Given the description of an element on the screen output the (x, y) to click on. 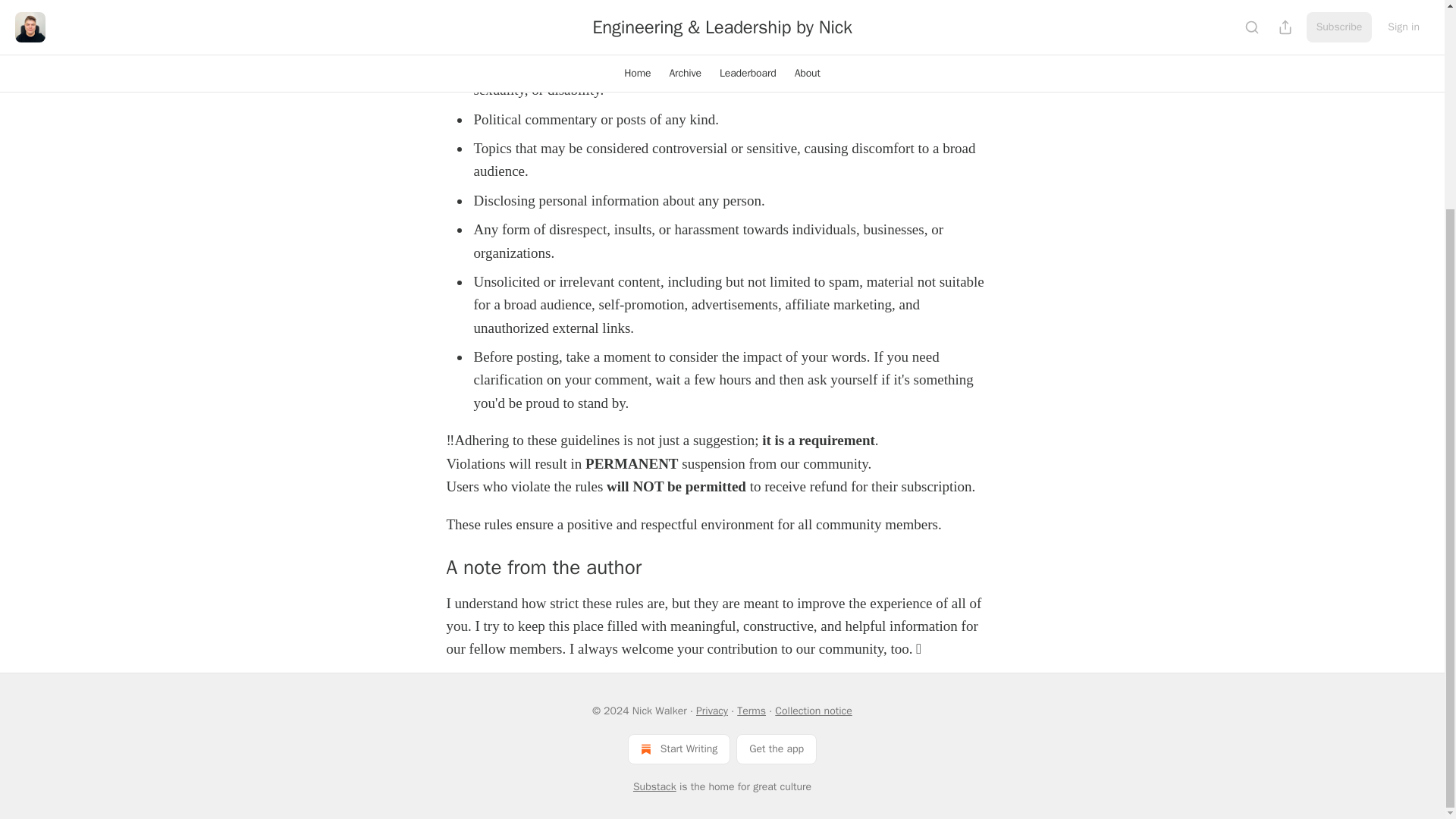
Get the app (776, 748)
Substack (655, 786)
Privacy (711, 710)
Start Writing (678, 748)
Terms (750, 710)
Collection notice (812, 710)
